Given the description of an element on the screen output the (x, y) to click on. 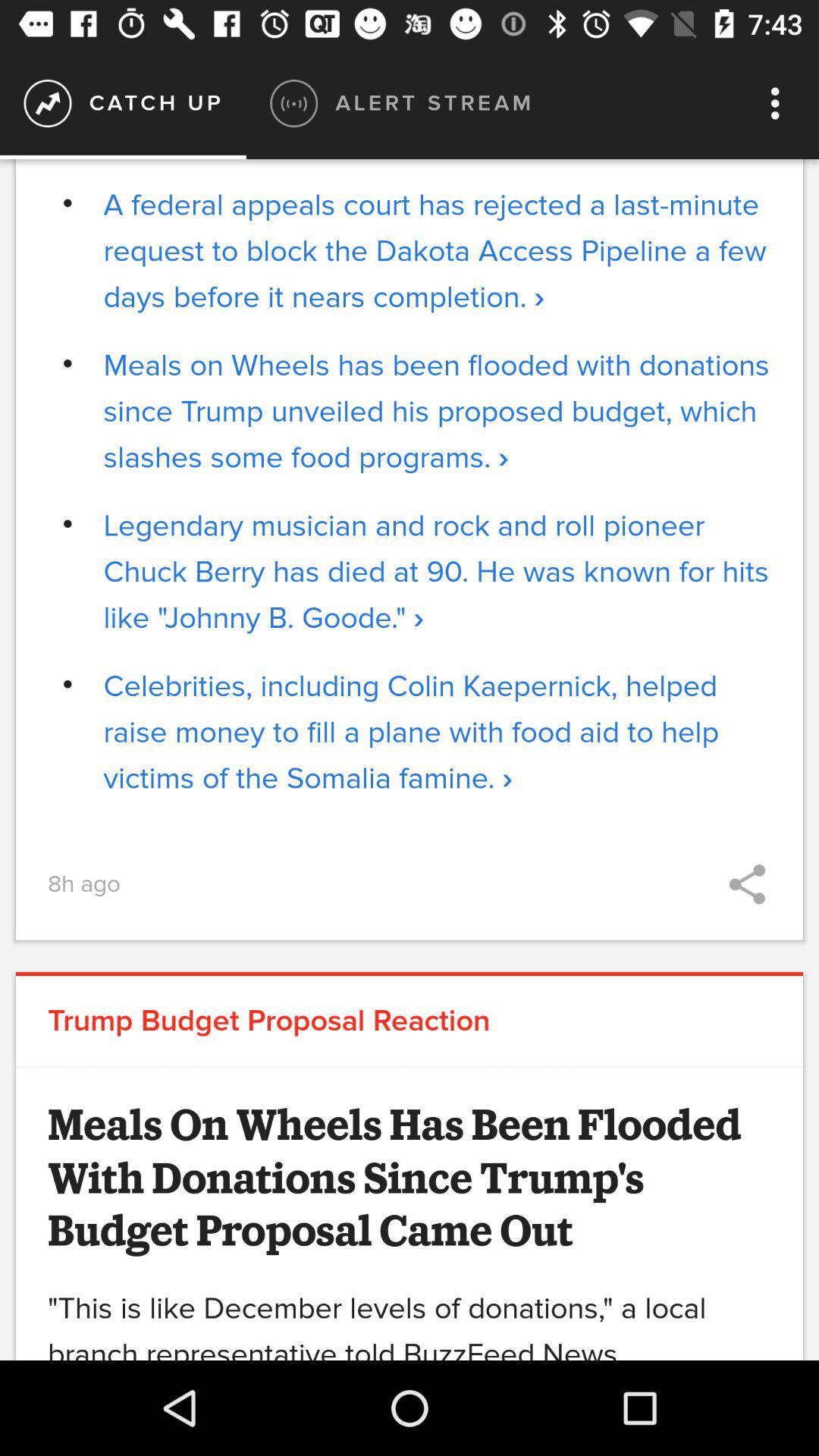
choose the celebrities including colin icon (437, 732)
